Given the description of an element on the screen output the (x, y) to click on. 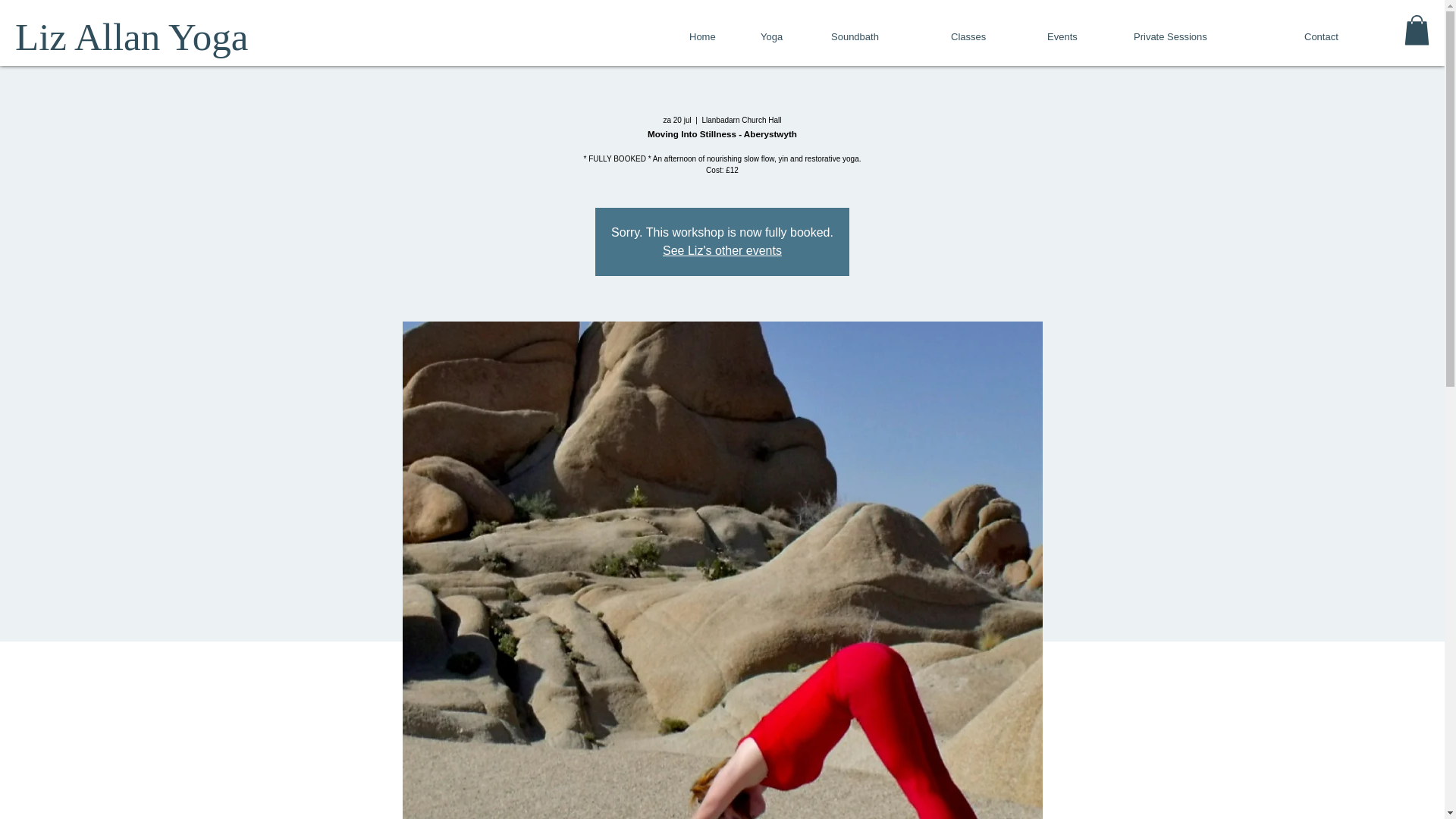
Classes (987, 36)
Home (713, 36)
See Liz's other events (721, 250)
Events (1078, 36)
Liz Allan Yoga (130, 36)
Private Sessions (1207, 36)
Soundbath (879, 36)
Yoga (784, 36)
Contact (1341, 36)
